Given the description of an element on the screen output the (x, y) to click on. 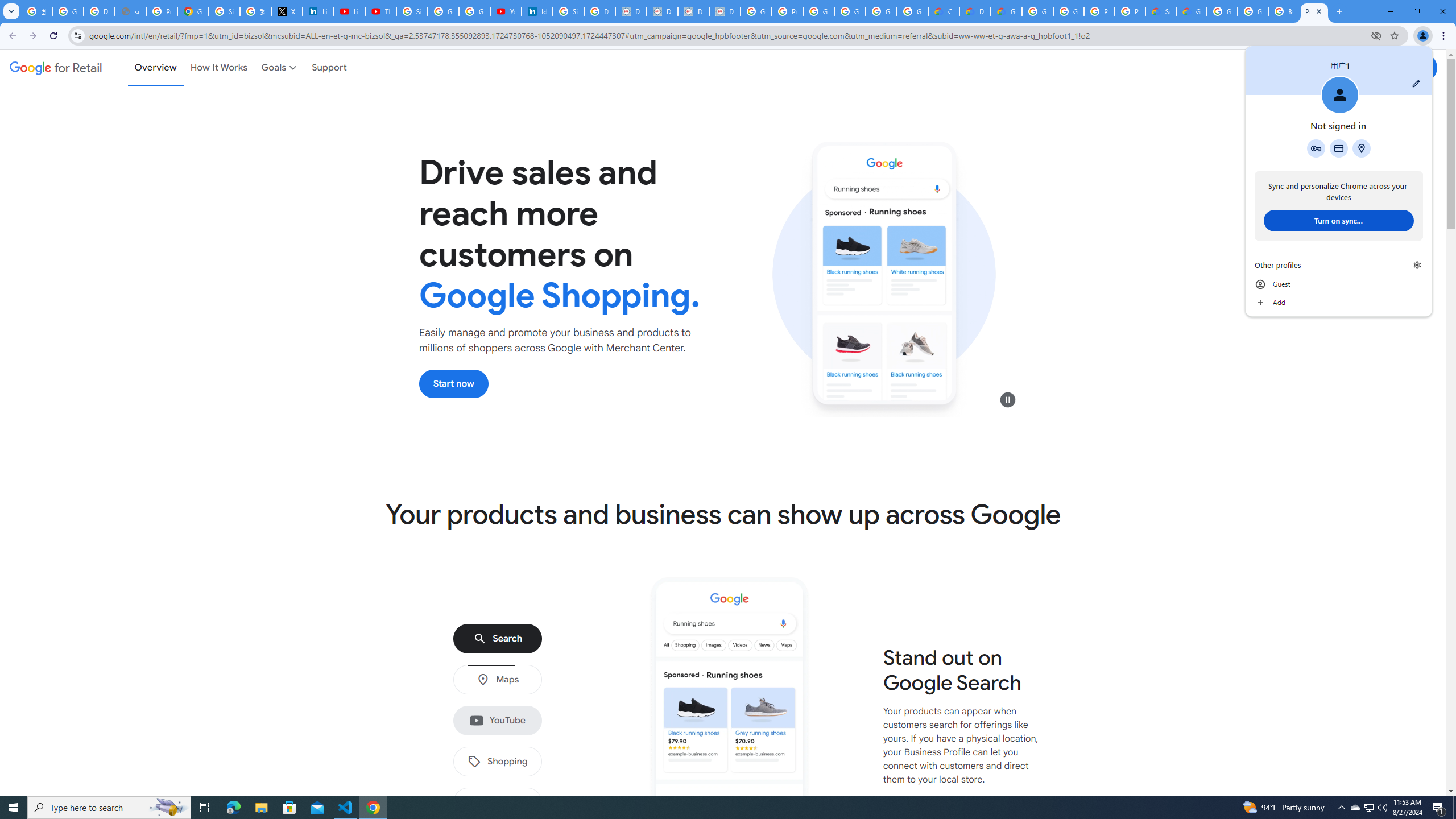
Data Privacy Framework (693, 11)
Customize profile (1415, 83)
Add (1338, 302)
Data Privacy Framework (724, 11)
Customer Care | Google Cloud (943, 11)
Task View (204, 807)
Gemini for Business and Developers | Google Cloud (1005, 11)
Pause animation (1007, 399)
